Given the description of an element on the screen output the (x, y) to click on. 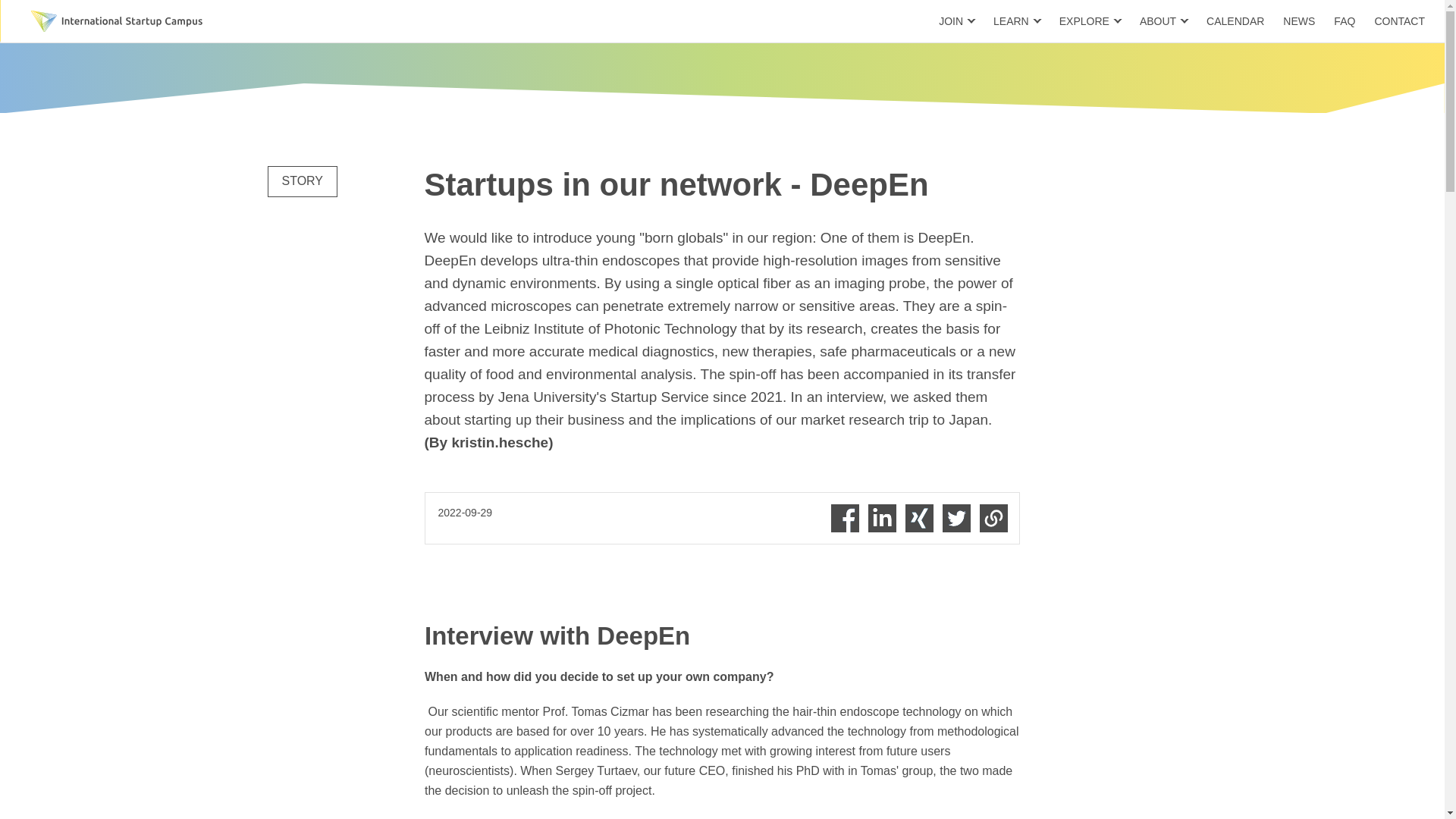
LIFT'N MOVE (626, 20)
GREATER CHINA (669, 20)
STARTUP OFFICE (583, 20)
WORKSHOPS (827, 20)
VIETNAM (806, 20)
ABOUT (1164, 21)
BEYOND HORIZON (725, 20)
CALENDAR (1235, 21)
EXPLORE (1090, 21)
INNOVATION ECOSYSTEM (567, 20)
